Given the description of an element on the screen output the (x, y) to click on. 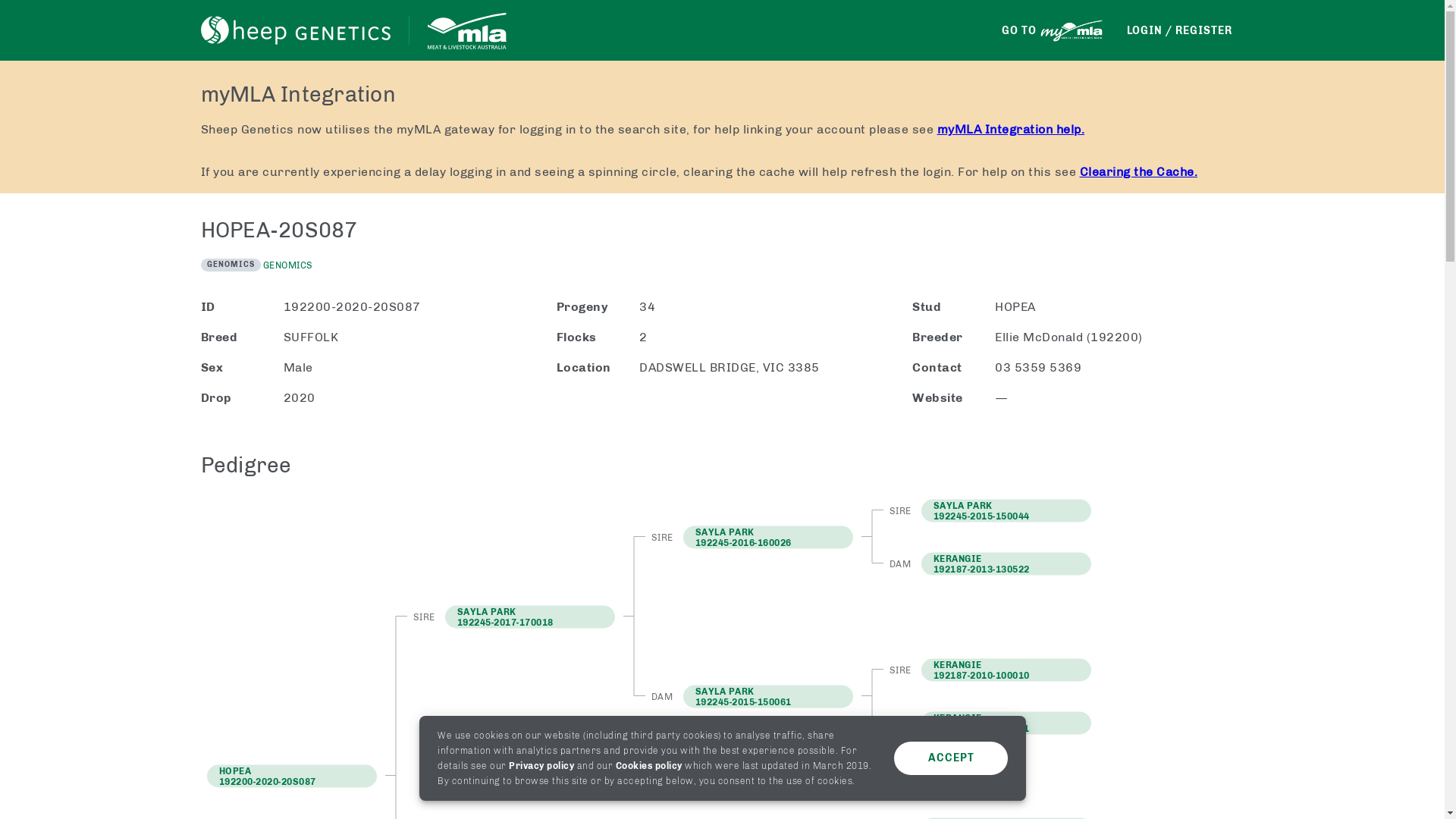
GO TO Element type: text (1051, 30)
Clearing the Cache. Element type: text (1138, 170)
ACCEPT Element type: text (950, 758)
Cookies policy Element type: text (648, 765)
myMLA Integration help. Element type: text (1011, 128)
LOGIN / REGISTER Element type: text (1179, 30)
Privacy policy Element type: text (540, 765)
GENOMICS Element type: text (287, 264)
